Given the description of an element on the screen output the (x, y) to click on. 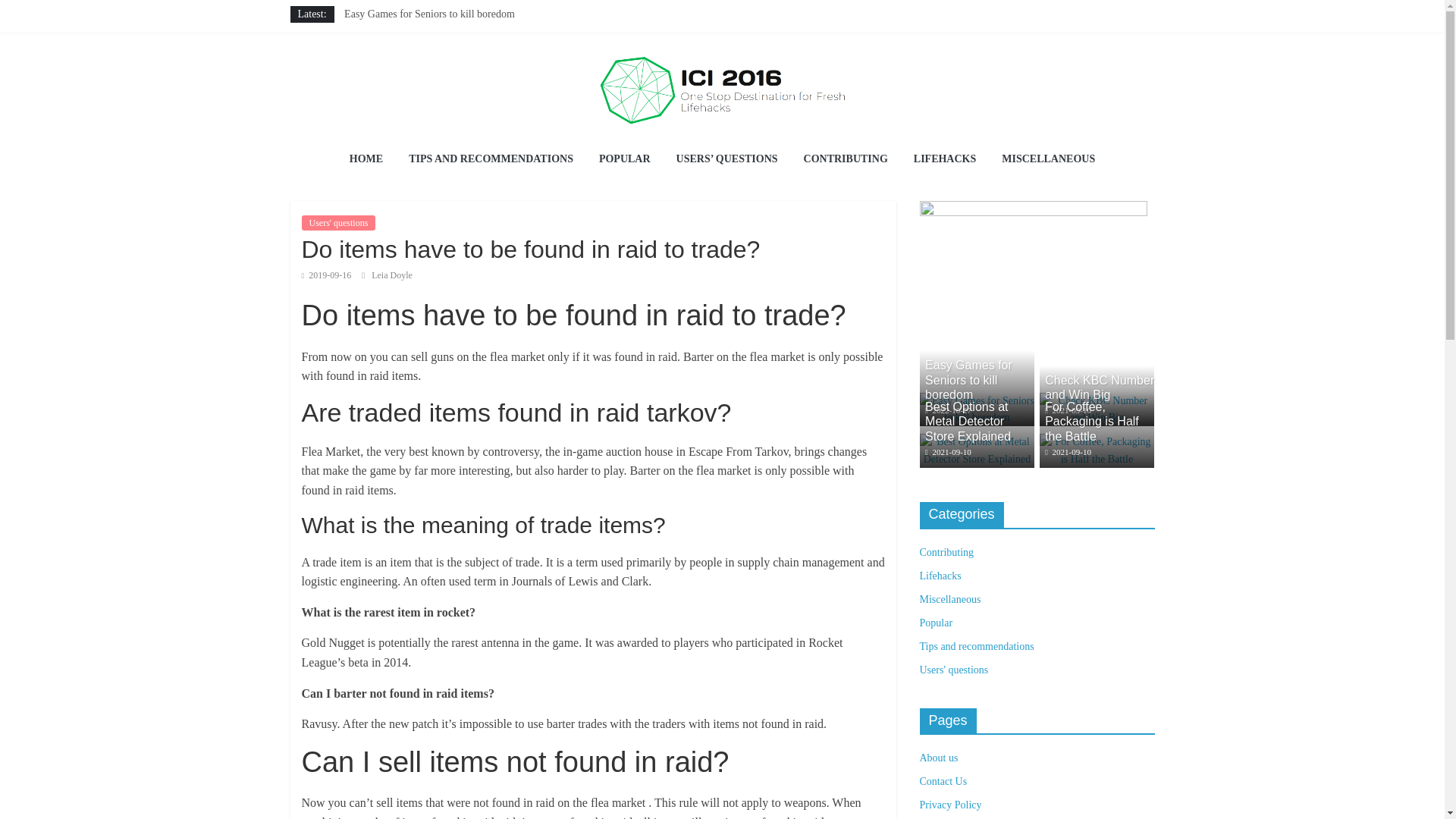
Leia Doyle (391, 275)
Easy Games for Seniors to kill boredom (975, 400)
12:45 (947, 409)
HOME (365, 159)
Easy Games for Seniors to kill boredom (429, 13)
Users' questions (338, 222)
Easy Games for Seniors to kill boredom (429, 13)
CONTRIBUTING (845, 159)
Check KBC Number and Win Big (1099, 387)
TIPS AND RECOMMENDATIONS (491, 159)
00:00 (326, 275)
MISCELLANEOUS (1048, 159)
2019-09-16 (326, 275)
